Given the description of an element on the screen output the (x, y) to click on. 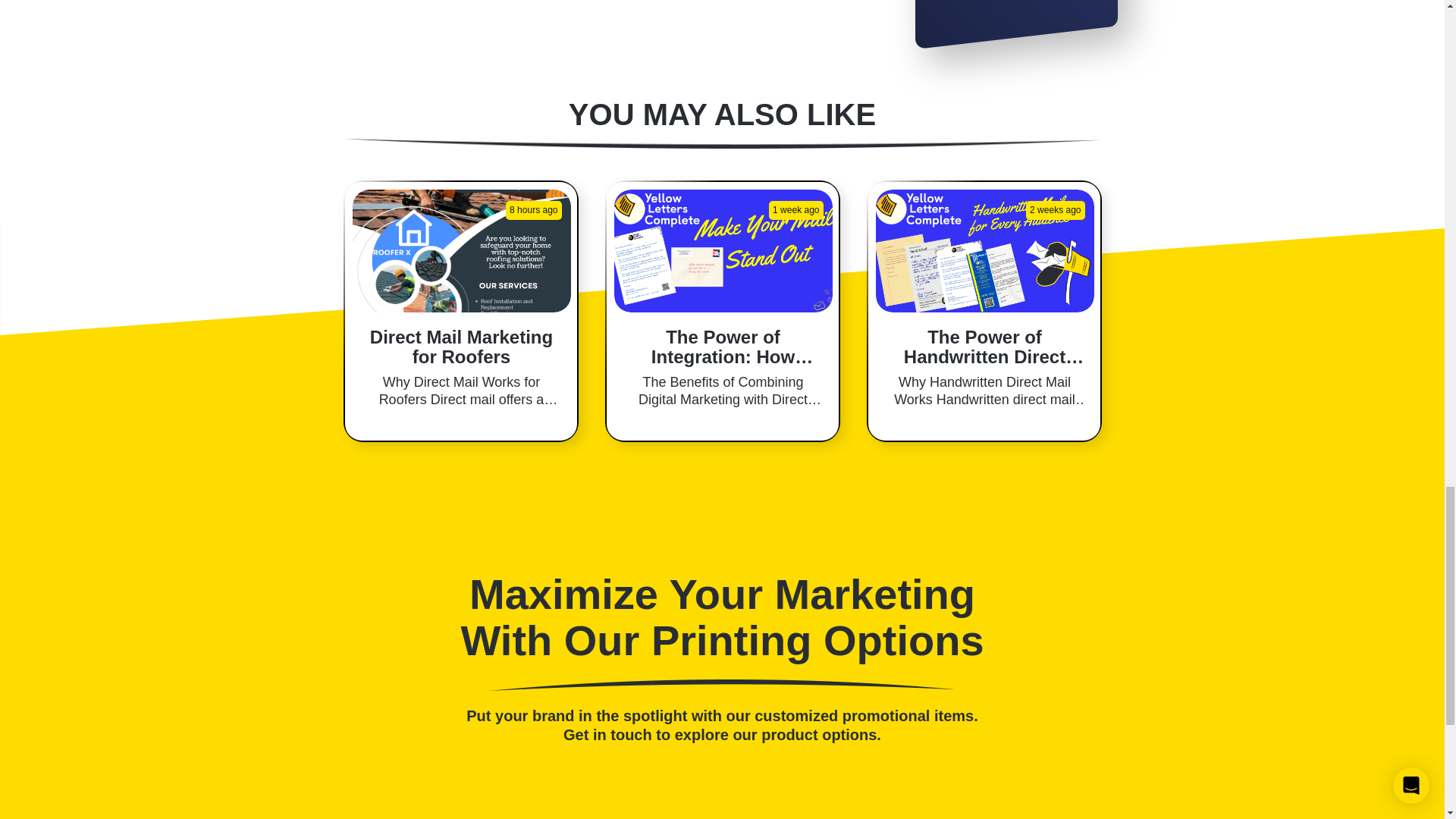
Direct Mail Marketing for Roofers (461, 250)
Direct Mail Marketing for Roofers (461, 346)
